Given the description of an element on the screen output the (x, y) to click on. 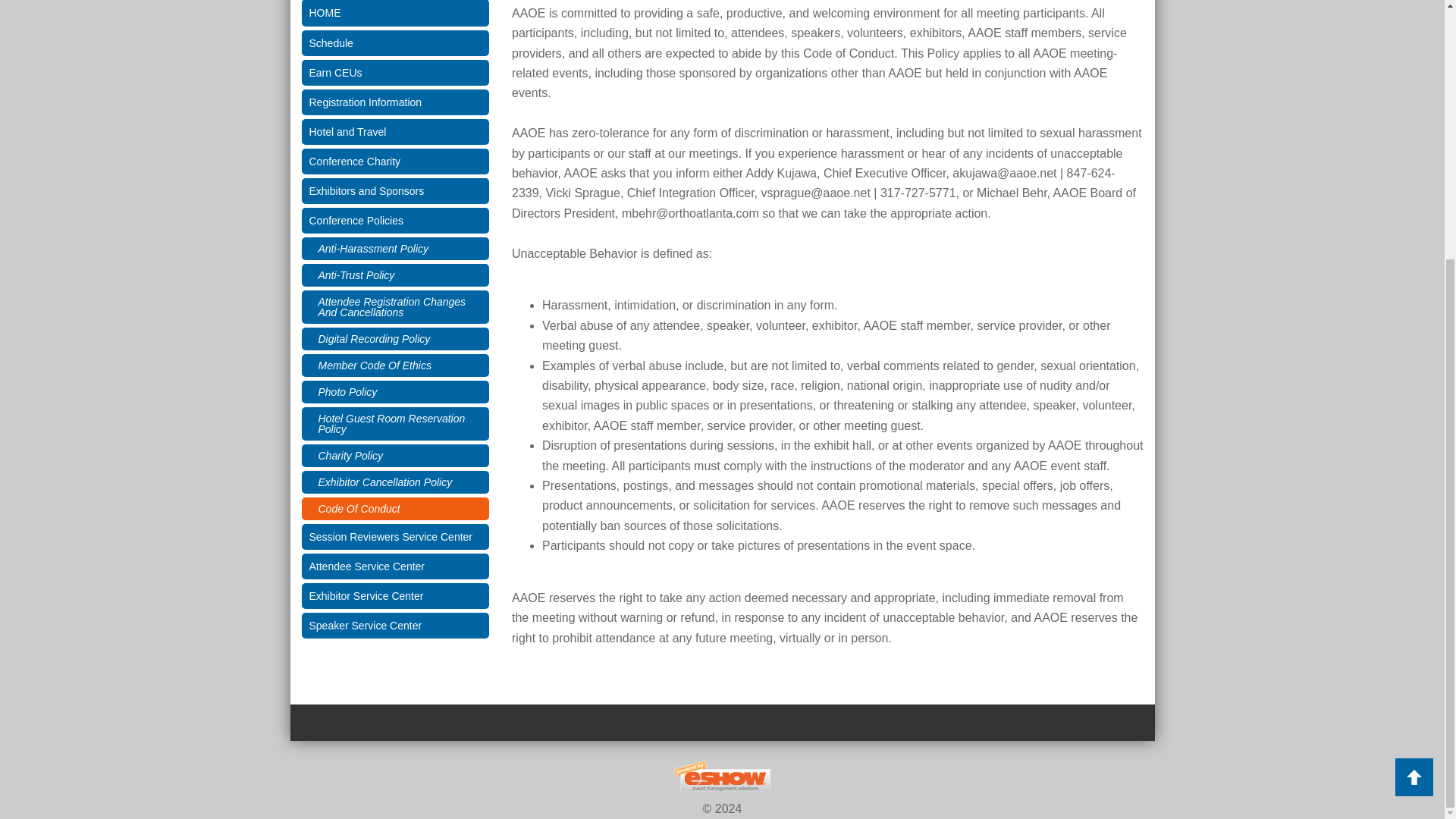
Exhibitors and Sponsors (395, 190)
HOME (395, 13)
Registration Information (395, 102)
Member Code Of Ethics (395, 364)
Photo Policy (395, 391)
Digital Recording Policy (395, 338)
Attendee Registration Changes And Cancellations (395, 306)
Anti-Trust Policy (395, 274)
Anti-Harassment Policy (395, 248)
Schedule (395, 43)
